Given the description of an element on the screen output the (x, y) to click on. 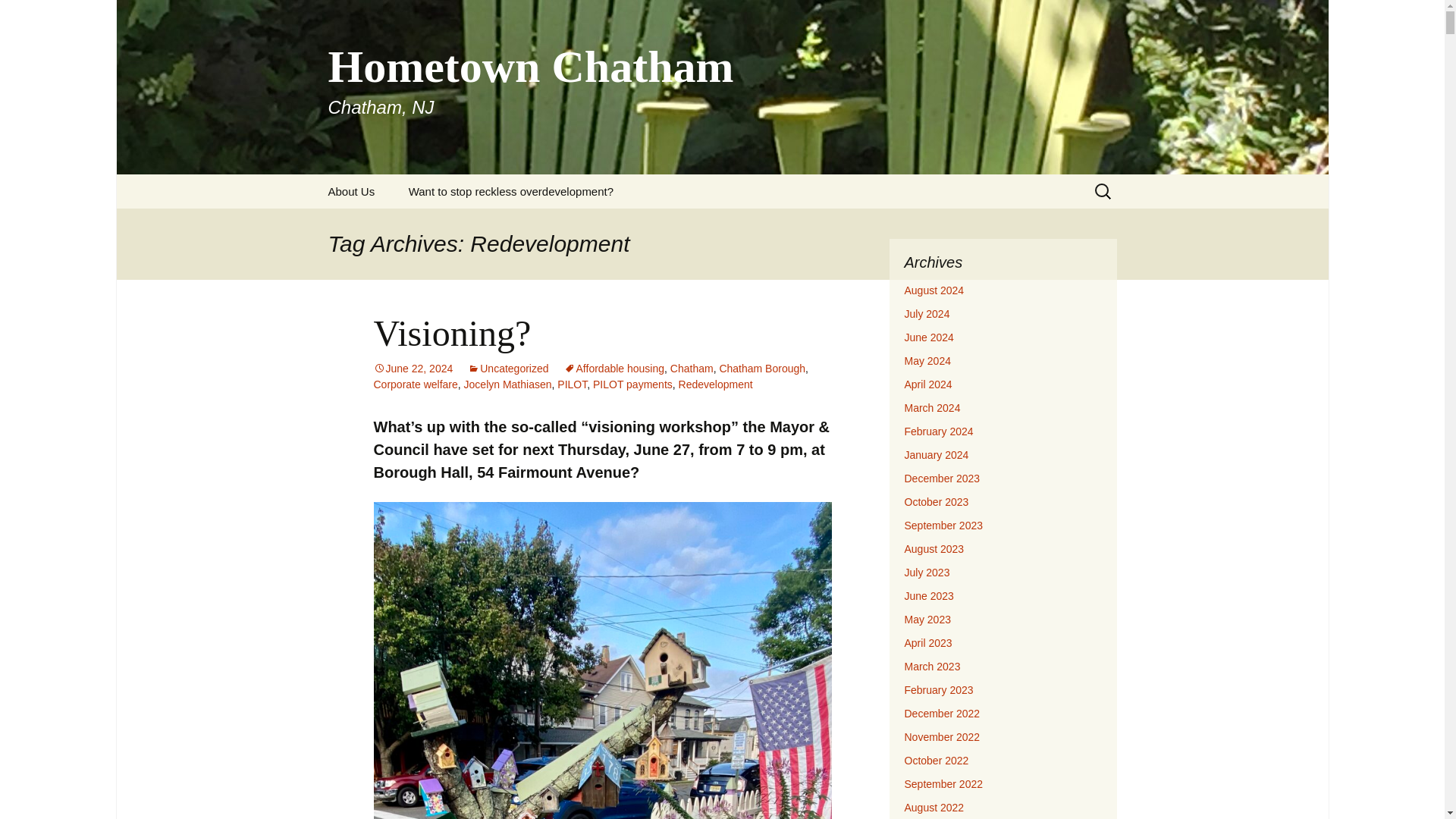
Affordable housing (614, 368)
Redevelopment (715, 384)
About Us (351, 191)
PILOT (571, 384)
Want to stop reckless overdevelopment? (510, 191)
Corporate welfare (414, 384)
Jocelyn Mathiasen (507, 384)
Chatham (691, 368)
June 22, 2024 (412, 368)
